Given the description of an element on the screen output the (x, y) to click on. 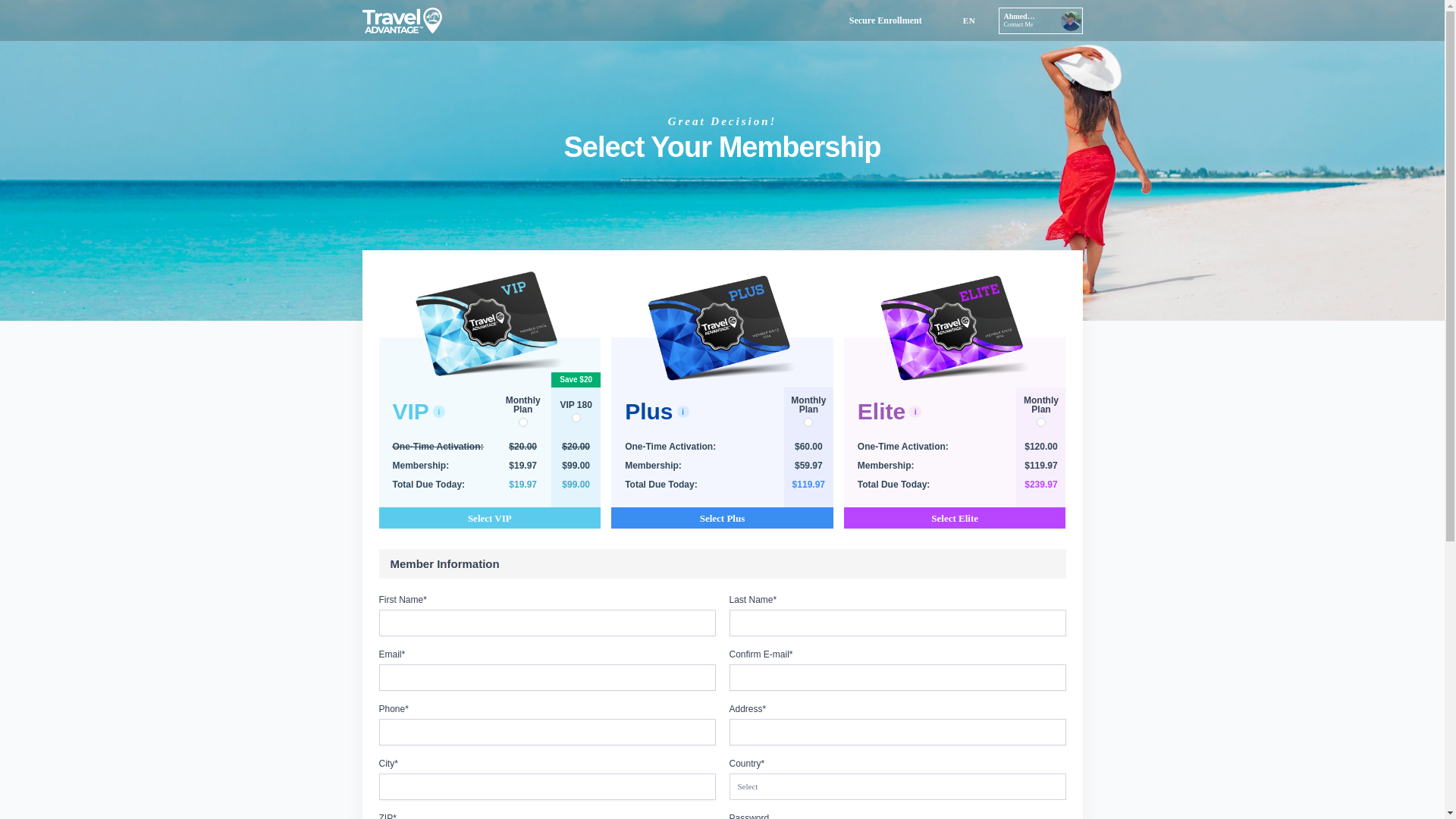
Chat (1406, 779)
Select Plus (721, 517)
i (914, 410)
Select Elite (954, 517)
i (682, 410)
i (438, 410)
Select VIP (489, 517)
EN (959, 20)
